Given the description of an element on the screen output the (x, y) to click on. 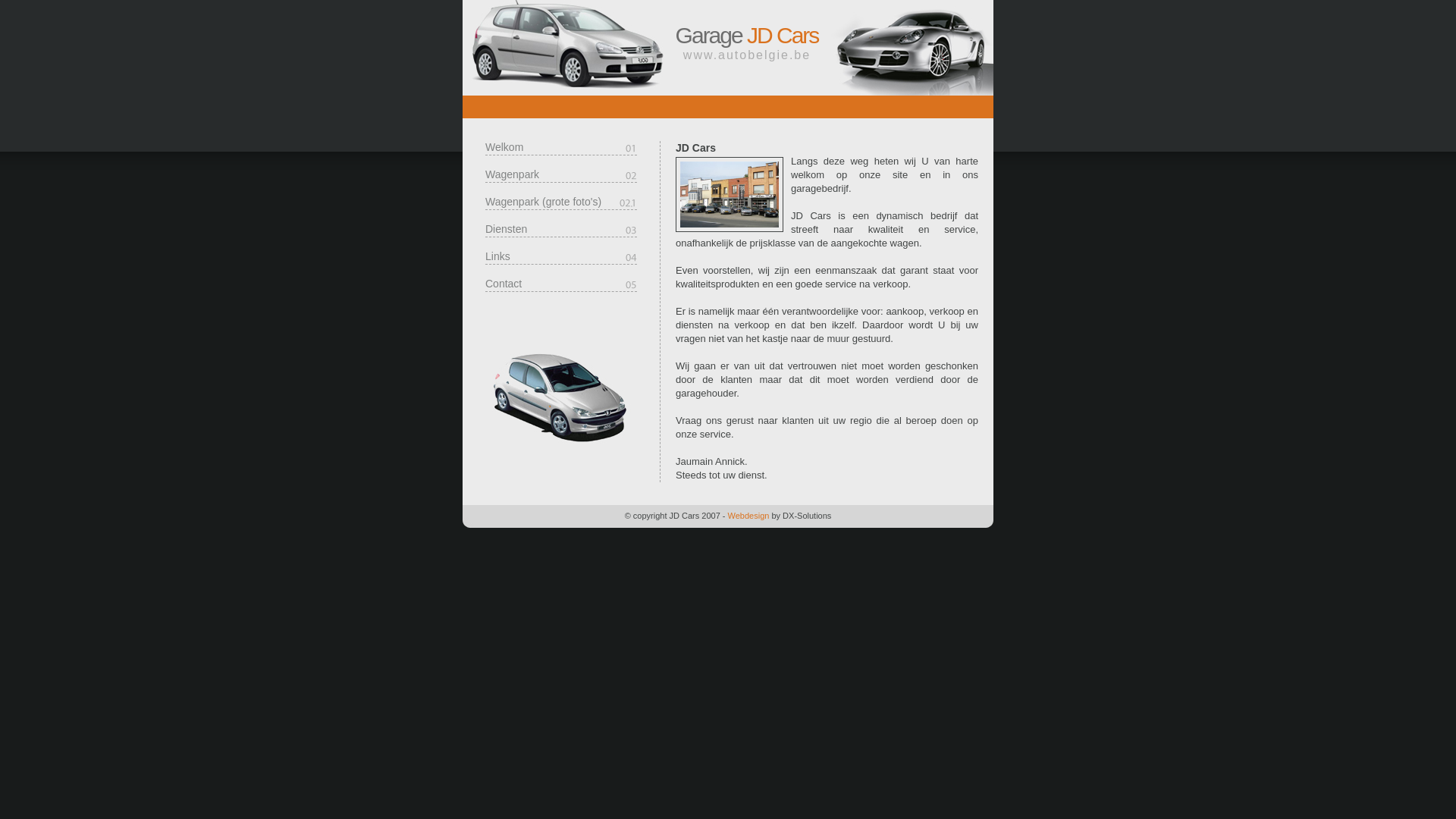
Links Element type: text (561, 256)
Contact Element type: text (561, 283)
Wagenpark Element type: text (561, 174)
Diensten Element type: text (561, 228)
Webdesign Element type: text (748, 515)
Welkom Element type: text (561, 147)
Wagenpark (grote foto's) Element type: text (561, 201)
